Given the description of an element on the screen output the (x, y) to click on. 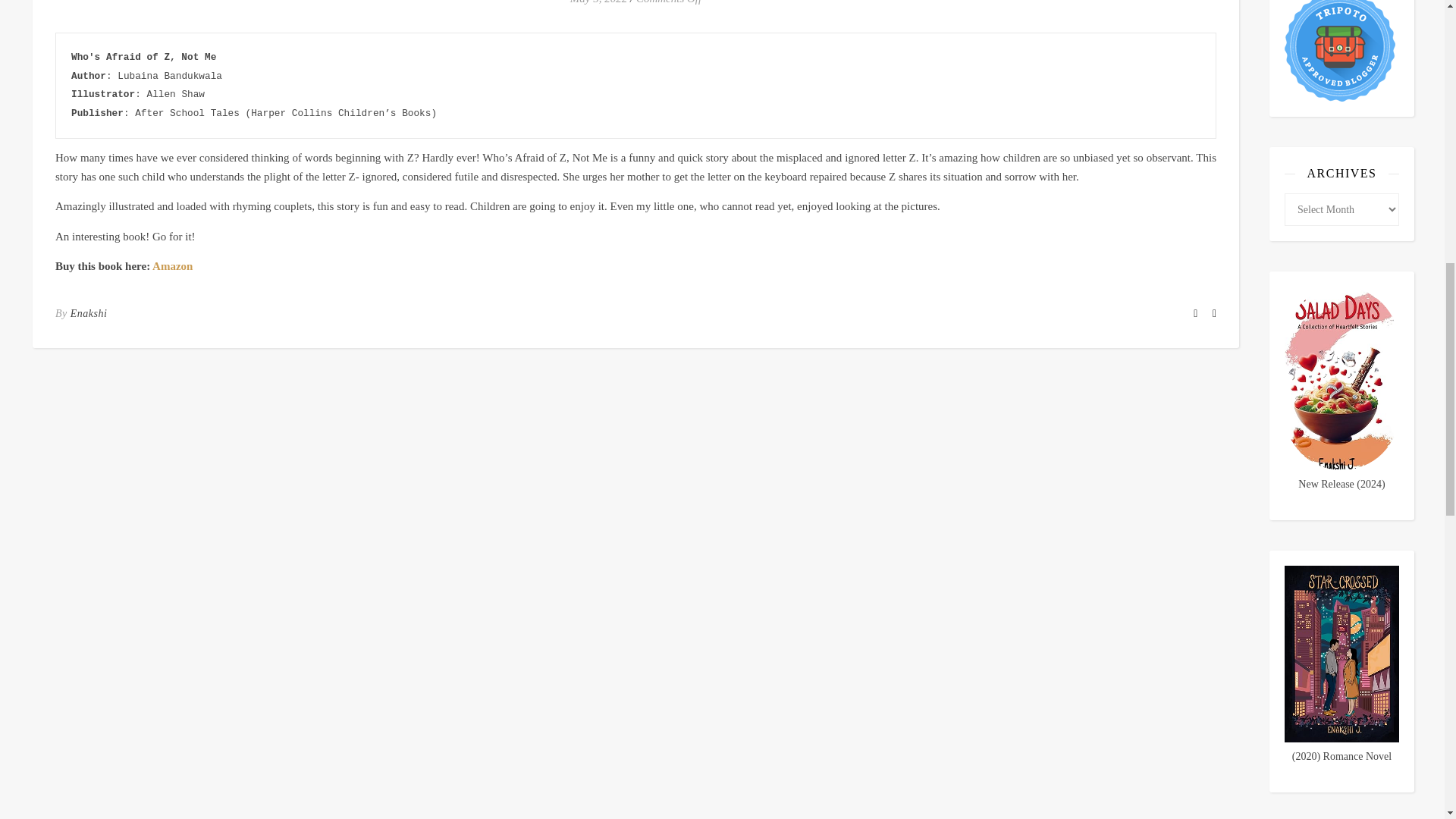
Posts by Enakshi (88, 313)
